Given the description of an element on the screen output the (x, y) to click on. 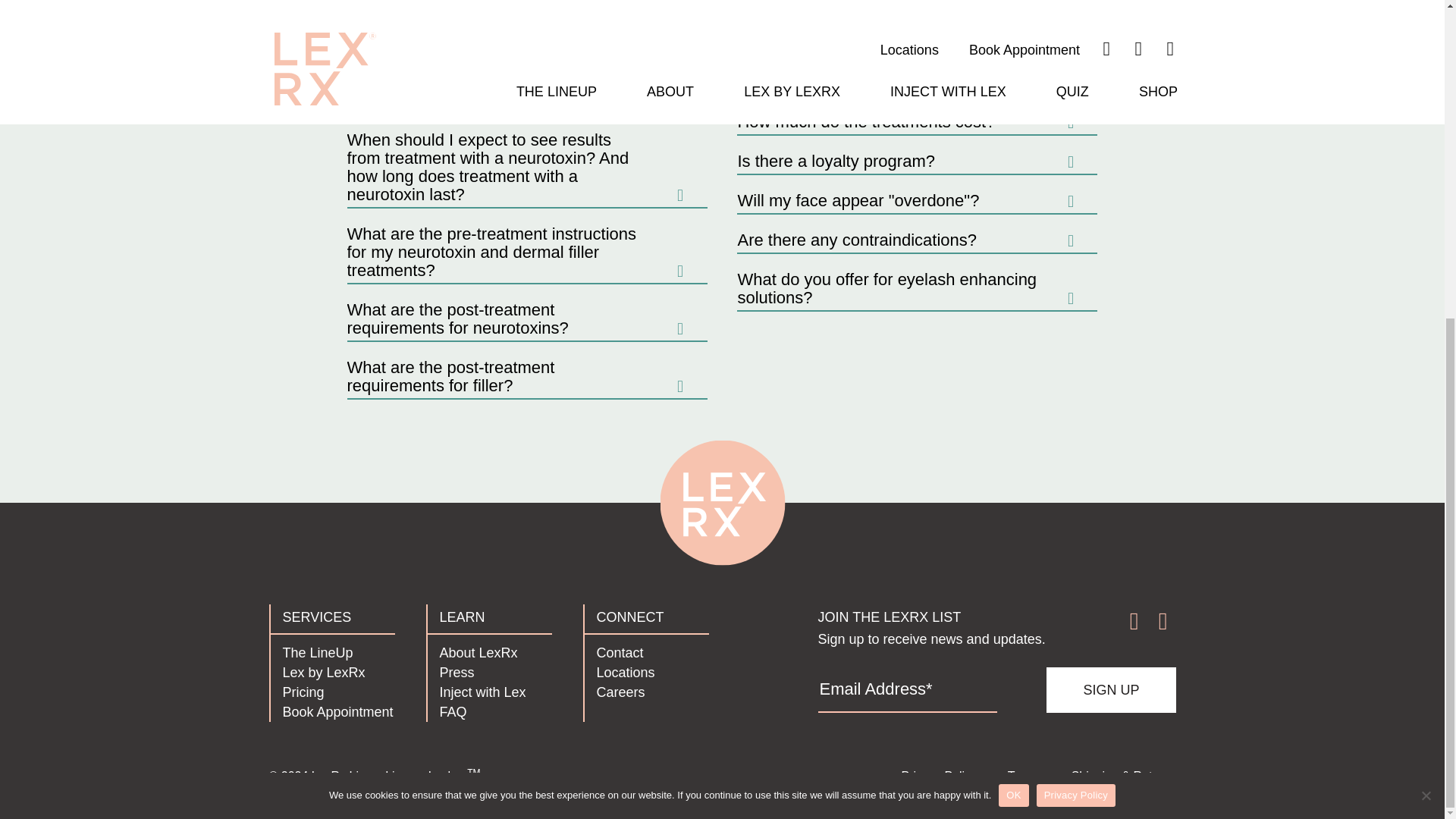
No (1425, 280)
